Given the description of an element on the screen output the (x, y) to click on. 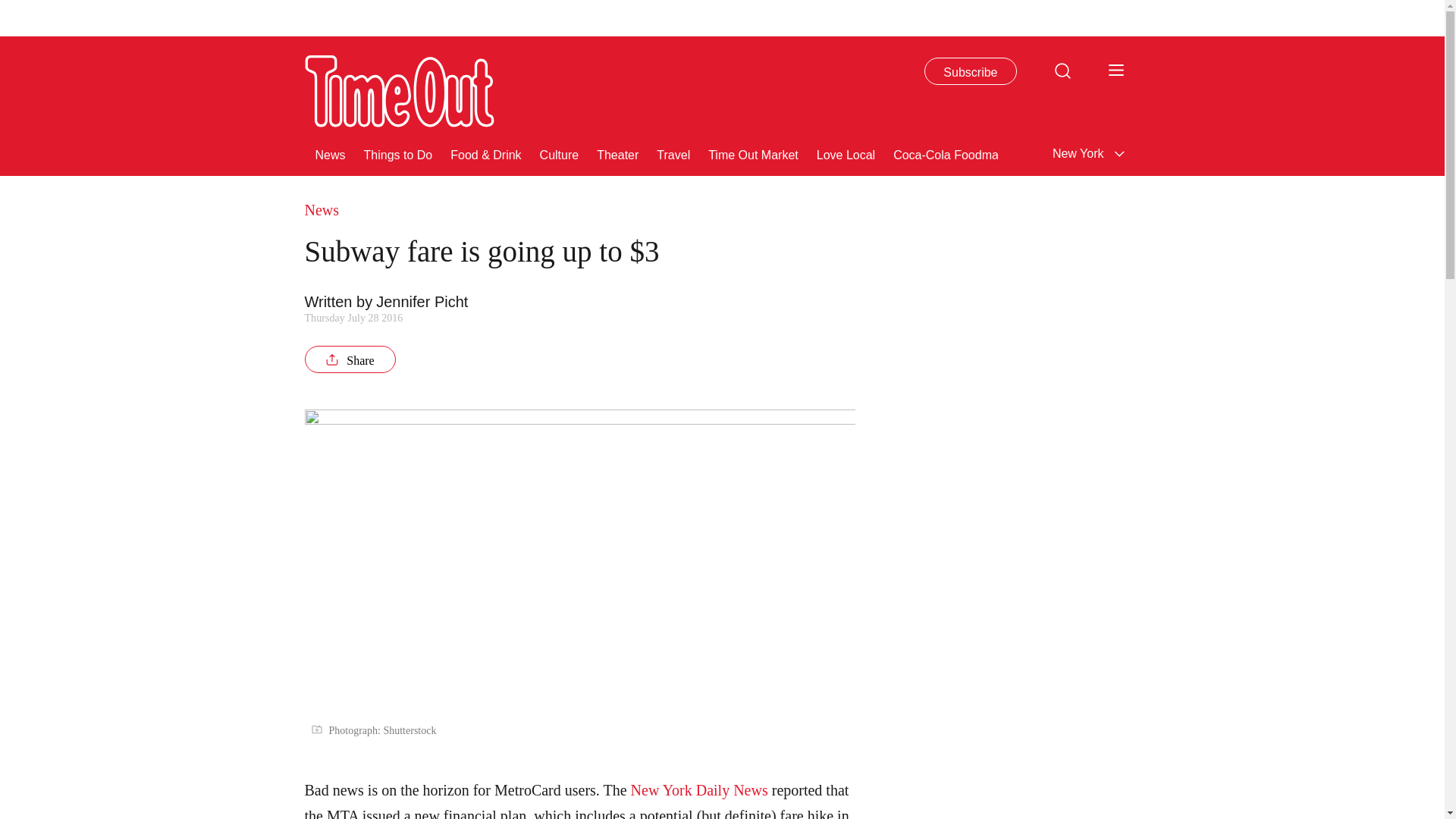
Theater (617, 153)
Subscribe (970, 71)
Go to the content (10, 7)
Things to Do (397, 153)
Music (1293, 153)
Culture (559, 153)
Museums (1176, 153)
Attractions (1103, 153)
Time Out Market (752, 153)
Hotels (1407, 153)
